Given the description of an element on the screen output the (x, y) to click on. 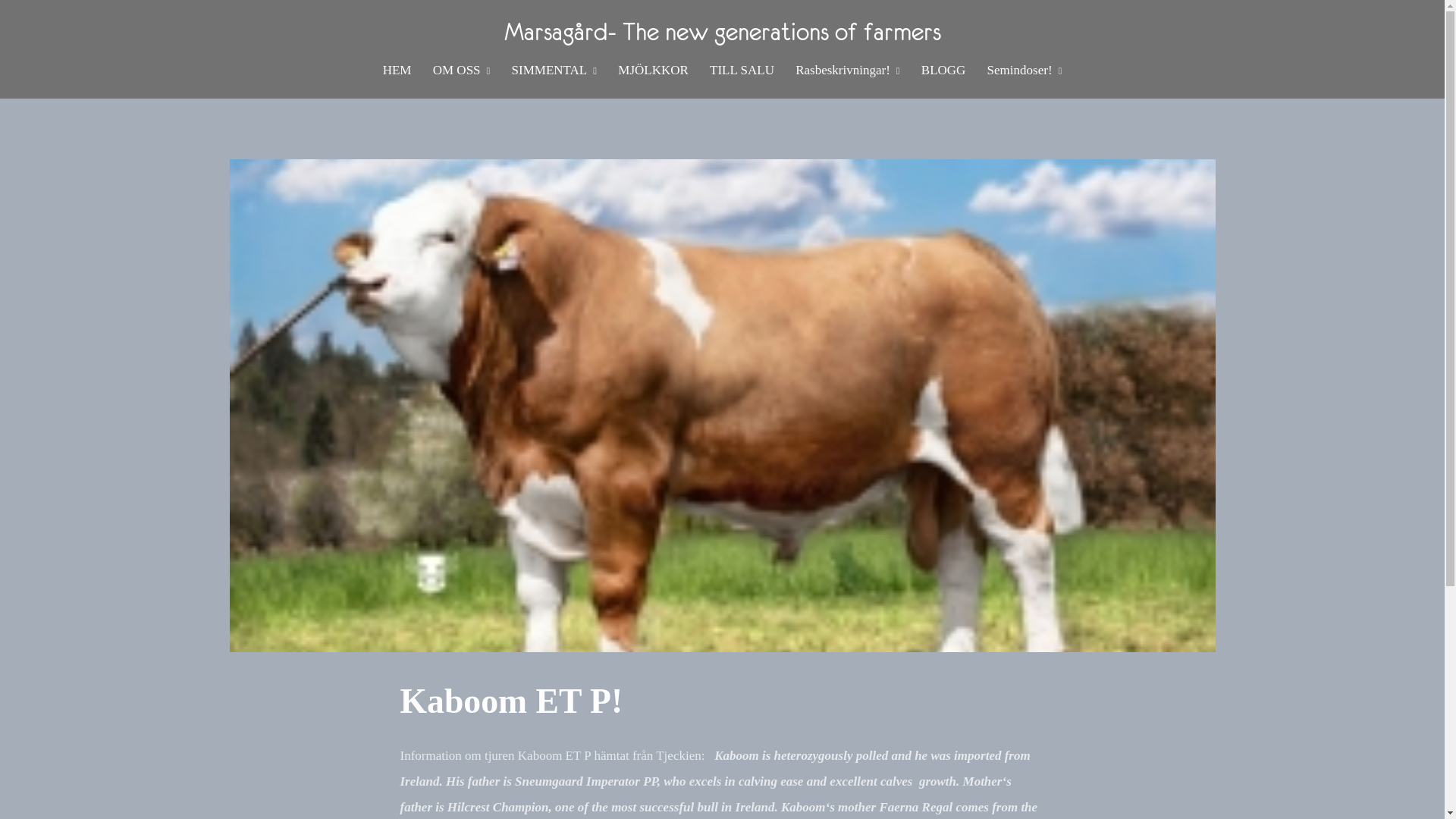
BLOGG (943, 69)
TILL SALU (741, 69)
HEM (397, 69)
